Given the description of an element on the screen output the (x, y) to click on. 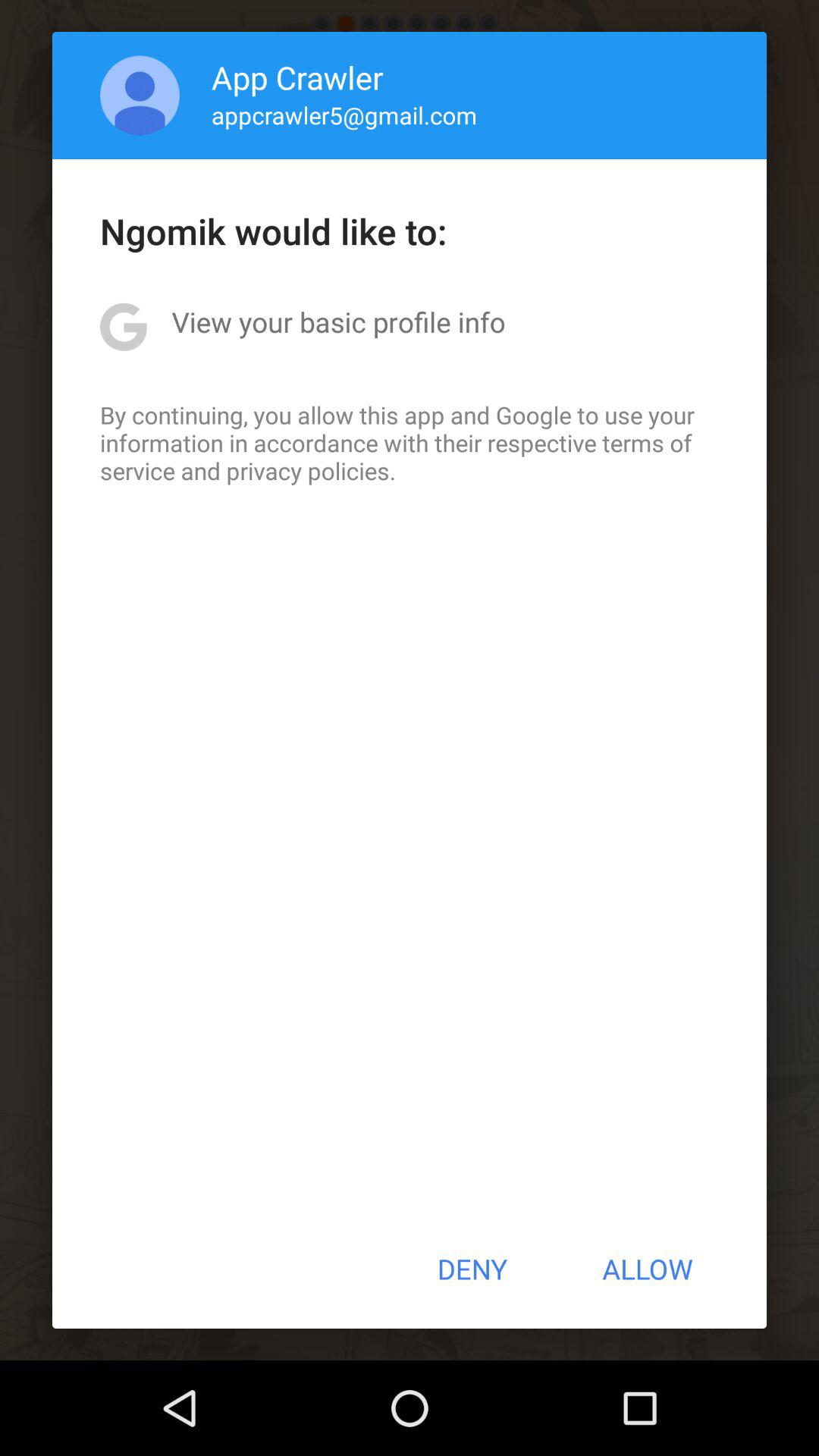
click the icon next to allow (471, 1268)
